Given the description of an element on the screen output the (x, y) to click on. 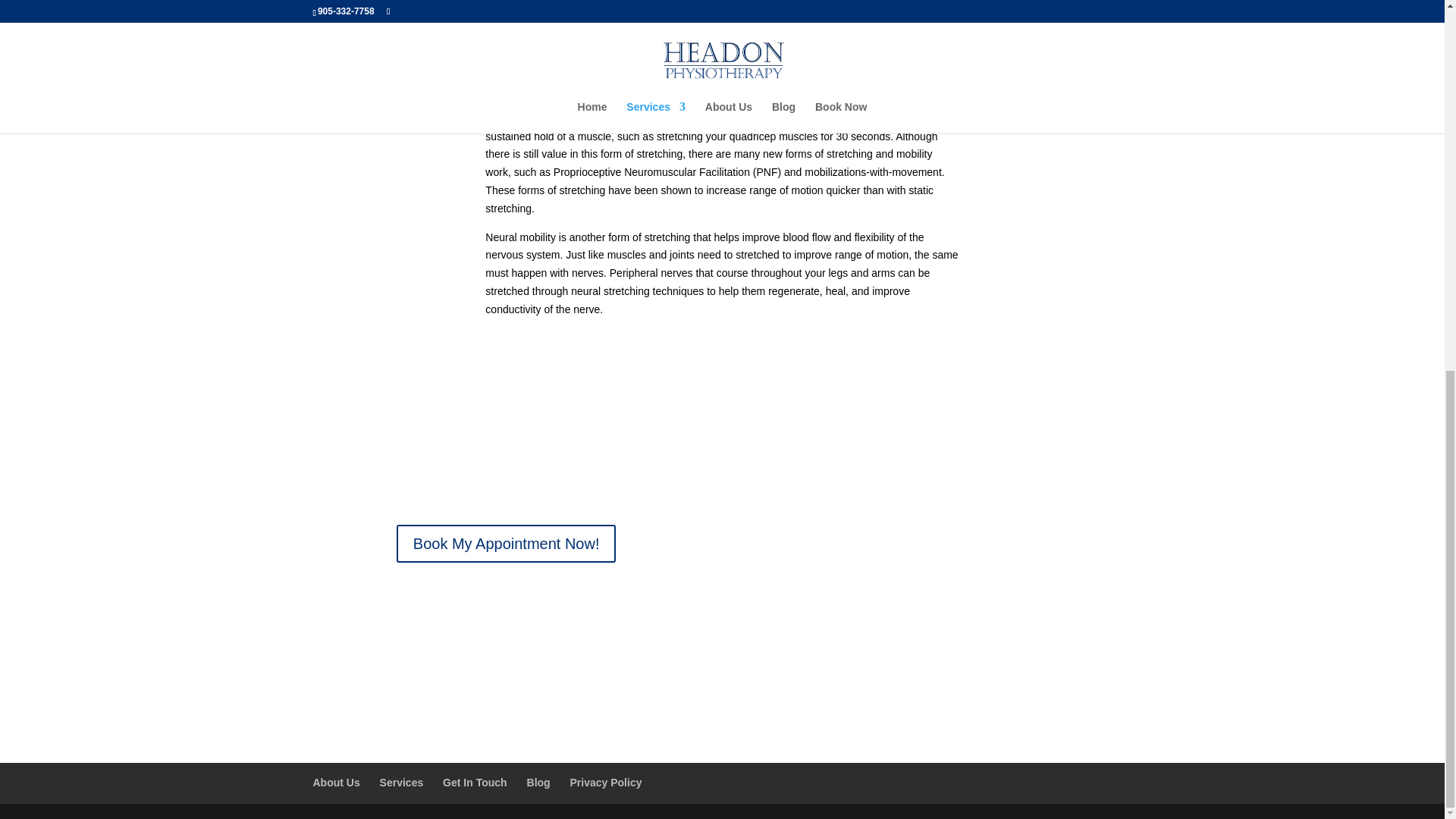
Services (401, 782)
About Us (336, 782)
Blog (538, 782)
Book My Appointment Now! (505, 543)
Privacy Policy (606, 782)
Get In Touch (474, 782)
